Given the description of an element on the screen output the (x, y) to click on. 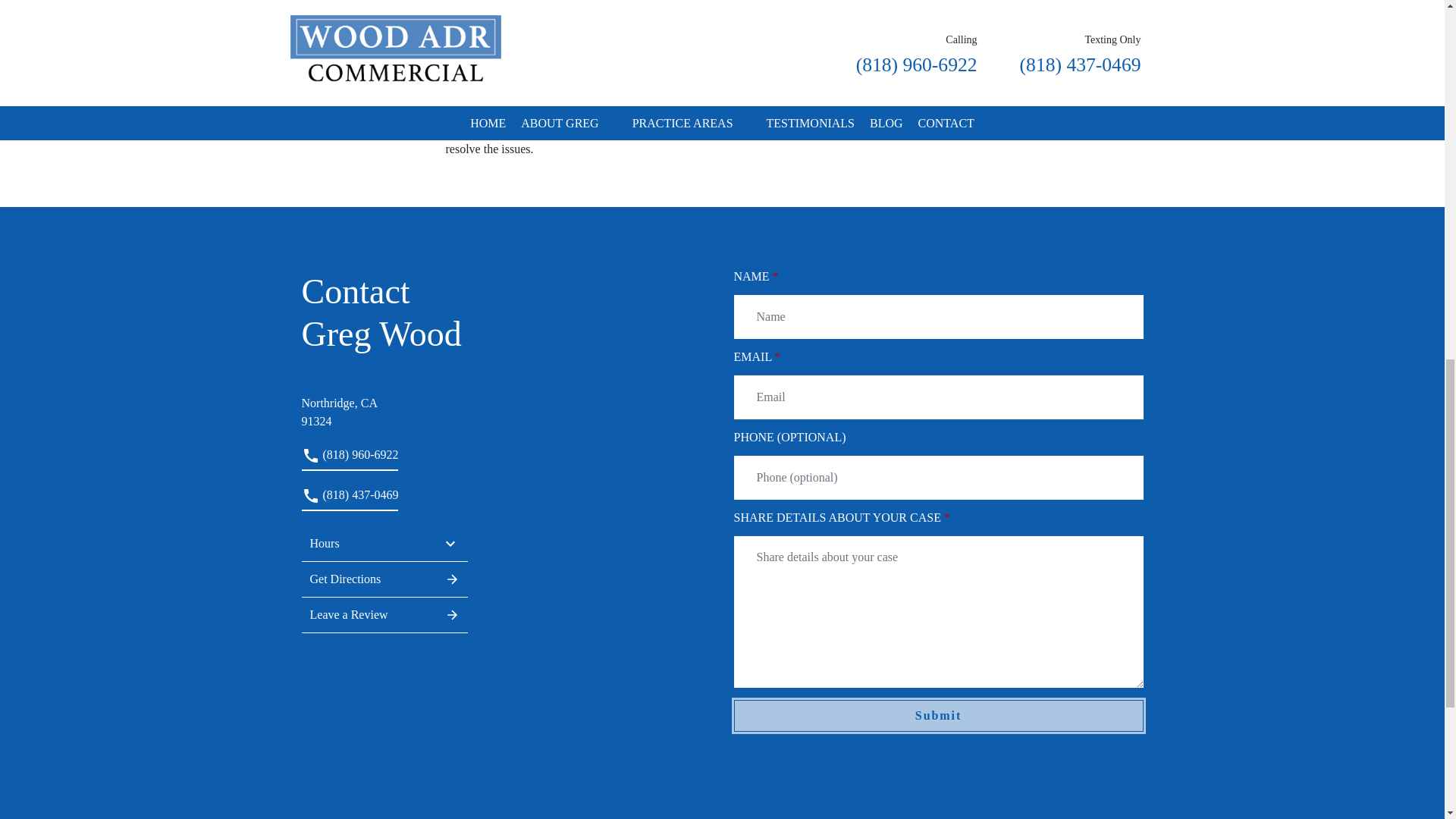
Hours (384, 543)
Submit (937, 716)
Get Directions (384, 579)
Leave a Review (384, 402)
